Given the description of an element on the screen output the (x, y) to click on. 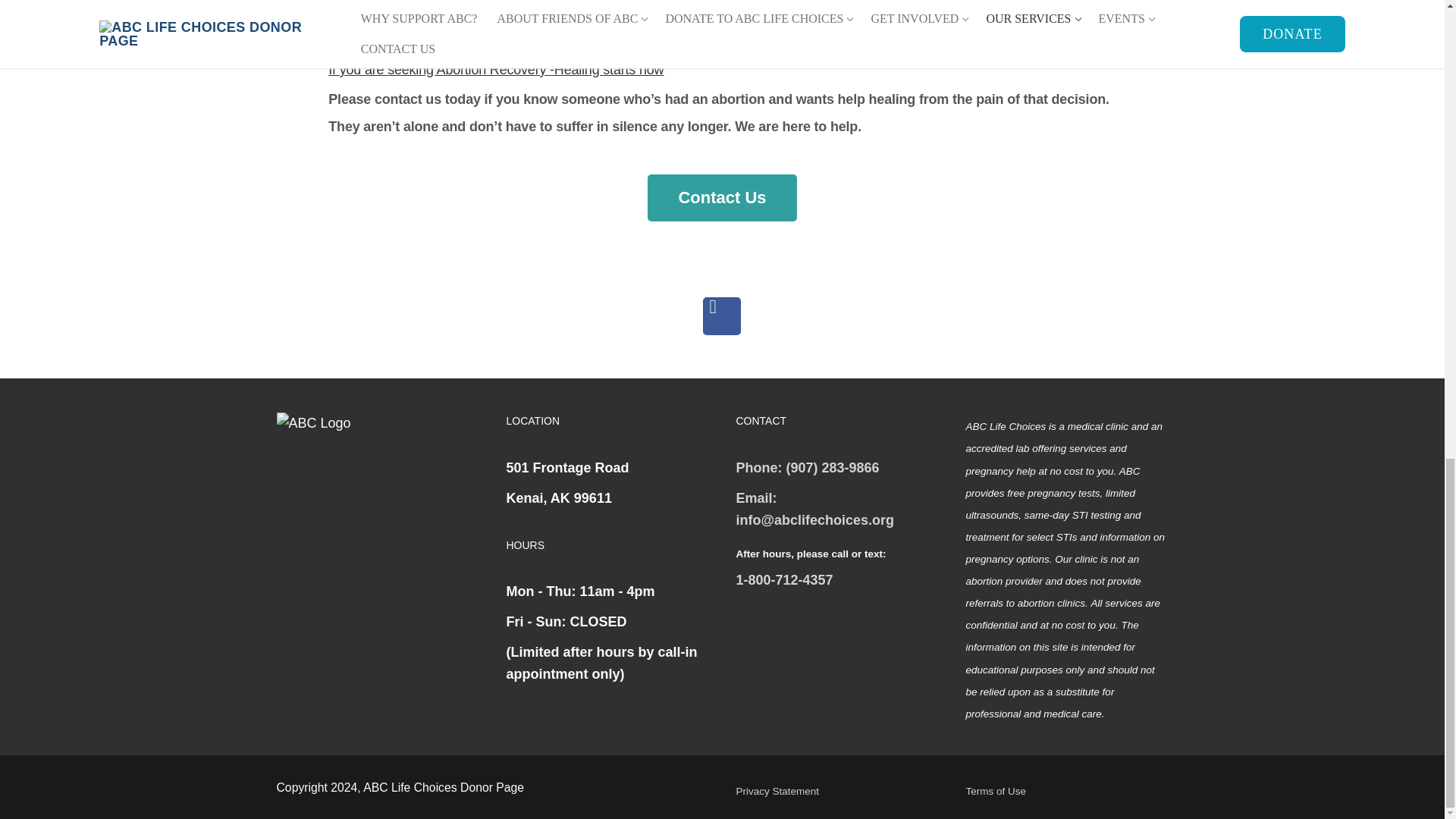
Contact Us (721, 197)
1-800-712-4357 (783, 580)
Privacy Statement (776, 786)
Terms of Use (996, 786)
